Given the description of an element on the screen output the (x, y) to click on. 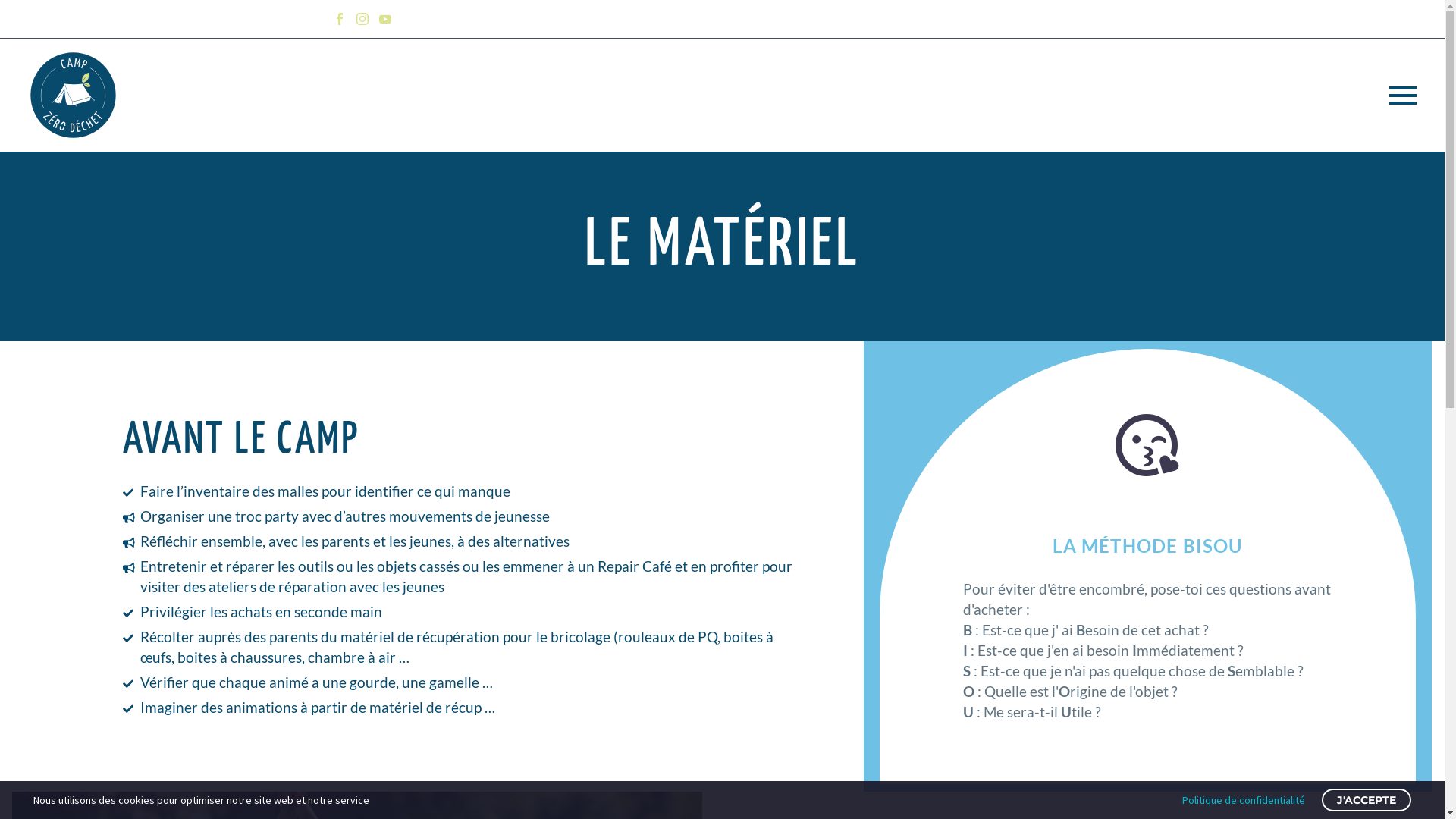
Facebook Element type: hover (338, 18)
J'ACCEPTE Element type: text (1366, 799)
Primary Menu Element type: text (1402, 94)
YouTube Element type: hover (384, 18)
Instagram Element type: hover (361, 18)
